Given the description of an element on the screen output the (x, y) to click on. 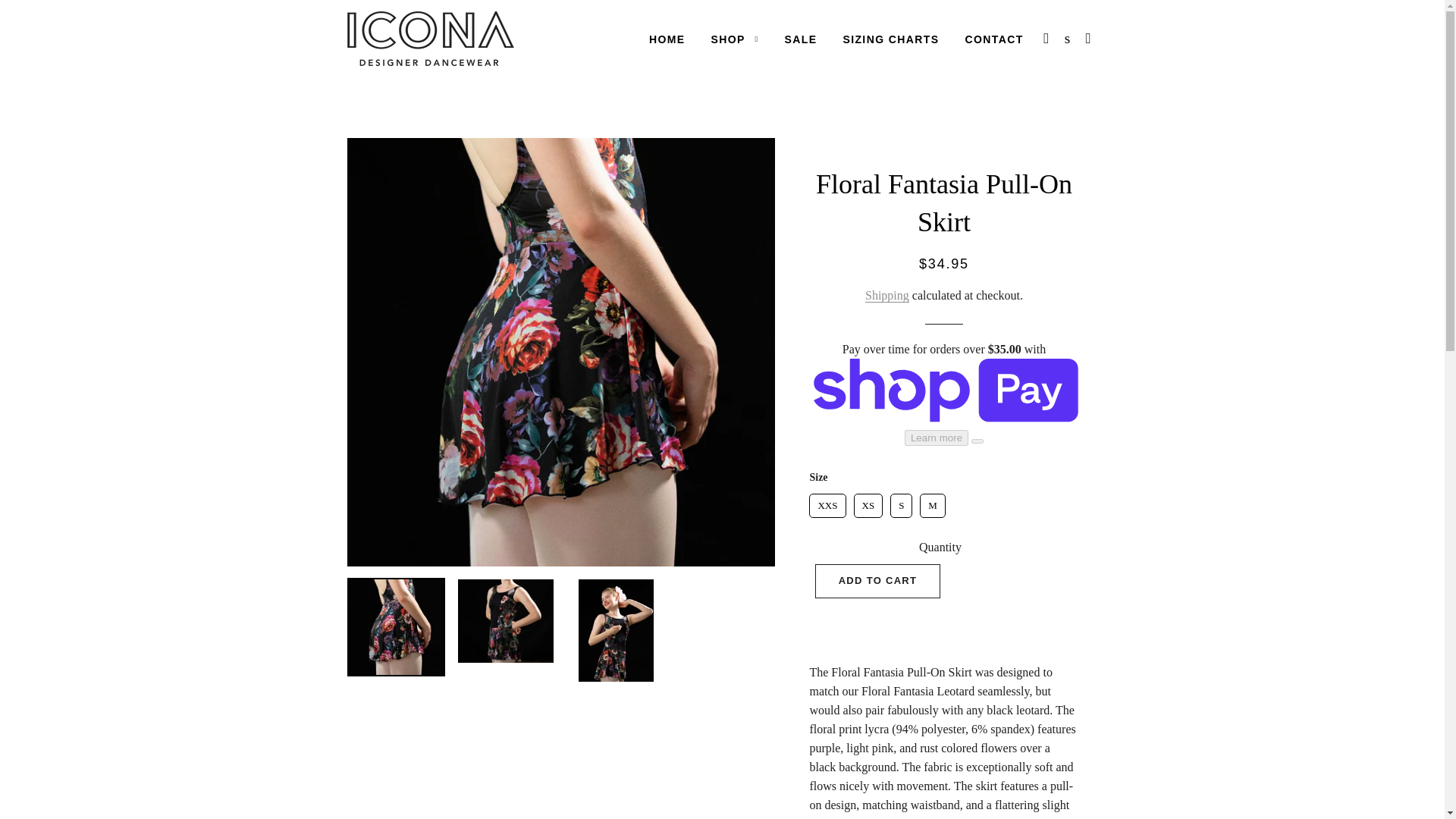
XS (868, 505)
M (932, 505)
S (900, 505)
SHOP (735, 39)
XXS (827, 505)
SIZING CHARTS (890, 39)
CONTACT (993, 39)
SALE (800, 39)
HOME (667, 39)
